Given the description of an element on the screen output the (x, y) to click on. 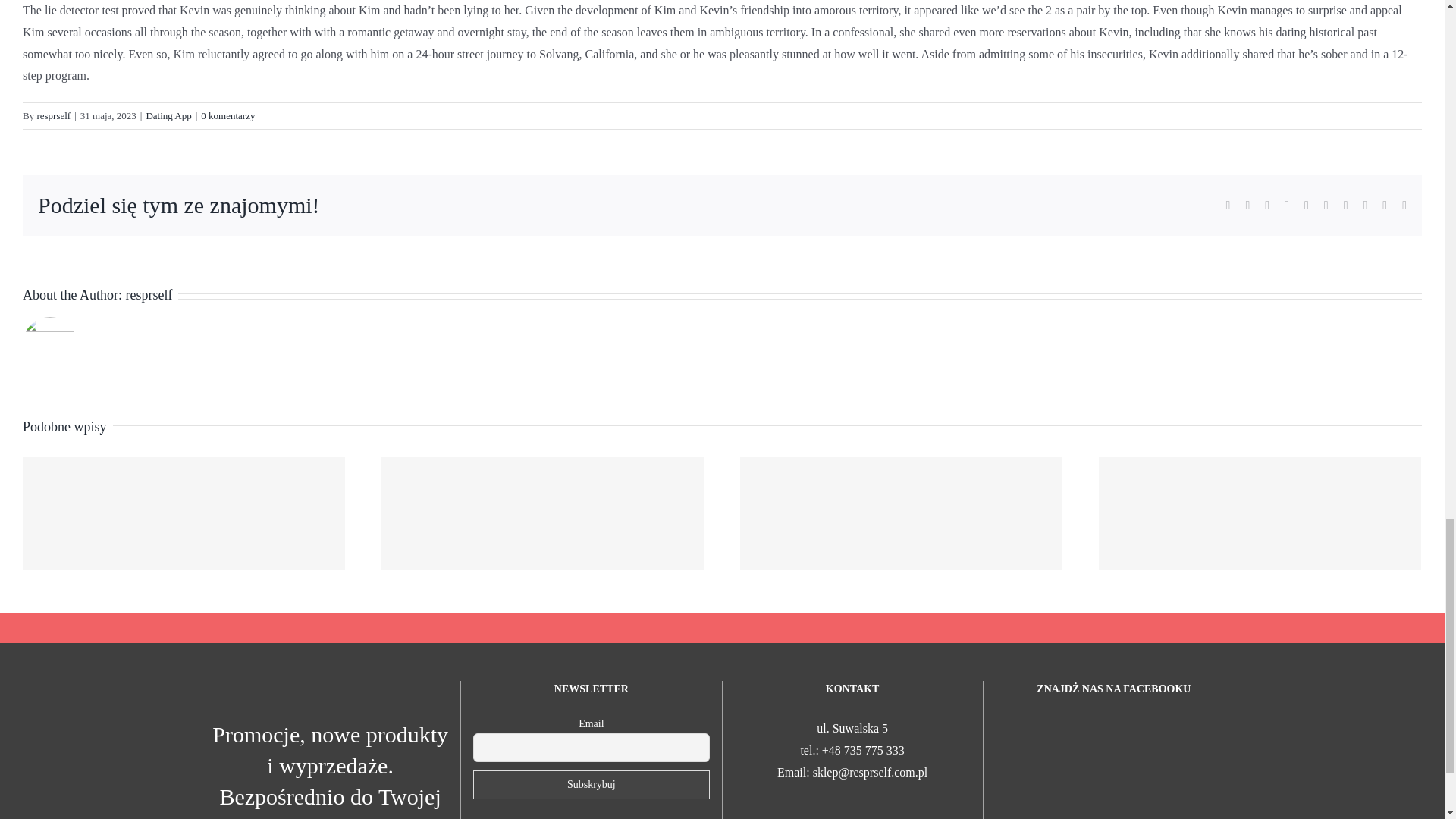
resprself (149, 294)
Dating App (167, 115)
0 komentarzy (227, 115)
Subskrybuj (591, 784)
resprself (52, 115)
